Given the description of an element on the screen output the (x, y) to click on. 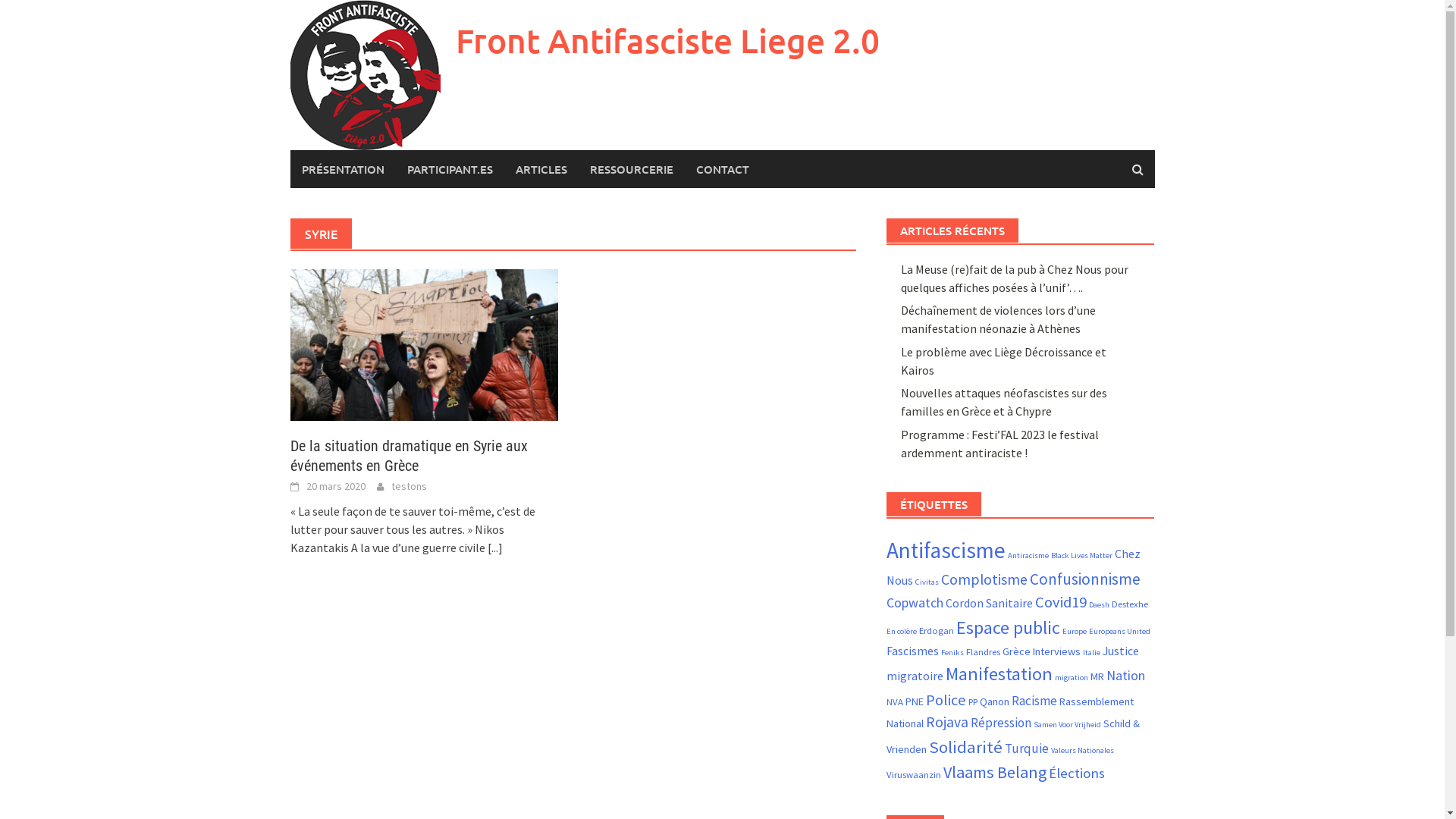
Espace public Element type: text (1008, 627)
testons Element type: text (408, 485)
Nation Element type: text (1125, 675)
Viruswaanzin Element type: text (913, 774)
Europeans United Element type: text (1119, 631)
Complotisme Element type: text (984, 579)
RESSOURCERIE Element type: text (630, 169)
ARTICLES Element type: text (540, 169)
Confusionnisme Element type: text (1084, 578)
Rassemblement National Element type: text (1009, 712)
Qanon Element type: text (994, 701)
Justice migratoire Element type: text (1012, 663)
Cordon Sanitaire Element type: text (988, 602)
migration Element type: text (1071, 677)
Samen Voor Vrijheid Element type: text (1067, 724)
Copwatch Element type: text (914, 602)
Police Element type: text (945, 699)
Italie Element type: text (1091, 652)
Rojava Element type: text (946, 721)
Antifascisme Element type: text (945, 550)
NVA Element type: text (894, 701)
Feniks Element type: text (952, 652)
Europe Element type: text (1074, 631)
Interviews Element type: text (1056, 651)
Black Lives Matter Element type: text (1081, 555)
[...] Element type: text (494, 547)
Chez Nous Element type: text (1013, 566)
PARTICIPANT.ES Element type: text (449, 169)
Daesh Element type: text (1098, 604)
Racisme Element type: text (1034, 700)
PNE Element type: text (914, 701)
Turquie Element type: text (1026, 748)
Manifestation Element type: text (998, 673)
Covid19 Element type: text (1060, 601)
Antiracisme Element type: text (1027, 555)
Civitas Element type: text (926, 581)
20 mars 2020 Element type: text (335, 485)
Destexhe Element type: text (1129, 603)
Vlaams Belang Element type: text (994, 771)
MR Element type: text (1097, 676)
Fascismes Element type: text (912, 650)
Front Antifasciste Liege 2.0 Element type: text (666, 40)
PP Element type: text (972, 701)
Erdogan Element type: text (936, 630)
Valeurs Nationales Element type: text (1082, 750)
Schild & Vrienden Element type: text (1012, 735)
CONTACT Element type: text (721, 169)
Flandres Element type: text (983, 651)
